Given the description of an element on the screen output the (x, y) to click on. 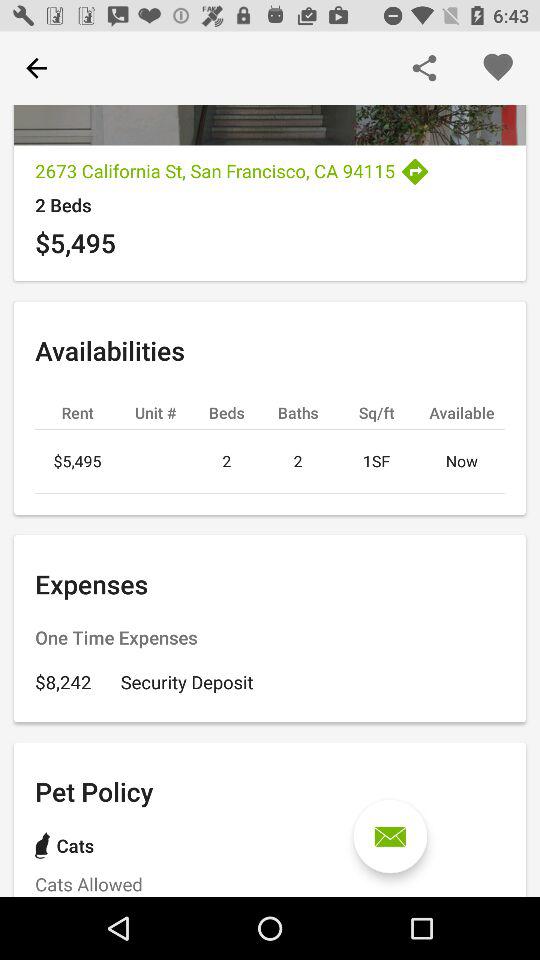
go to previous (36, 68)
